Given the description of an element on the screen output the (x, y) to click on. 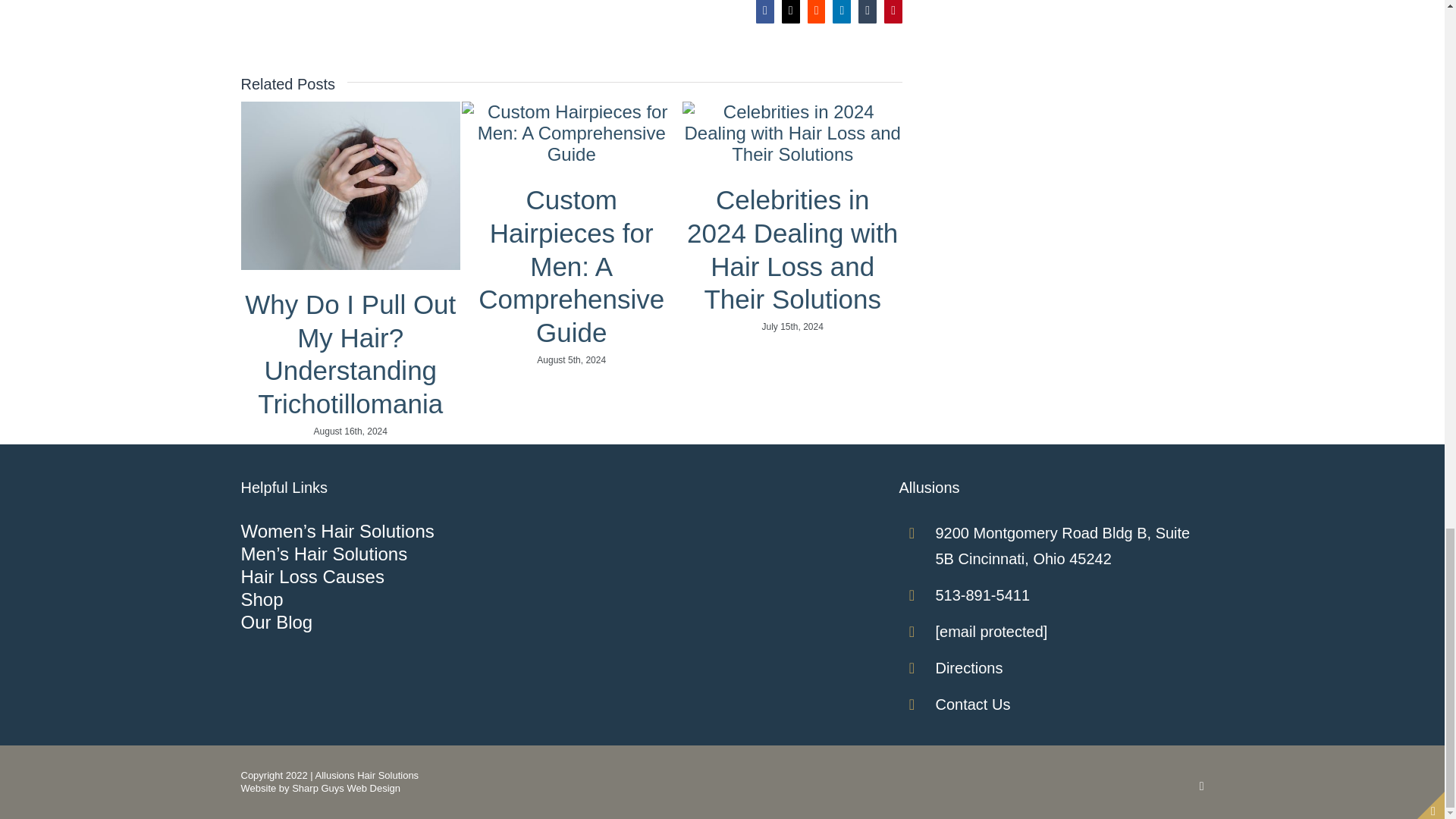
Custom Hairpieces for Men: A Comprehensive Guide (571, 266)
Custom Hairpieces for Men: A Comprehensive Guide (571, 266)
Why Do I Pull Out My Hair? Understanding Trichotillomania (349, 353)
Why Do I Pull Out My Hair? Understanding Trichotillomania (349, 353)
